Given the description of an element on the screen output the (x, y) to click on. 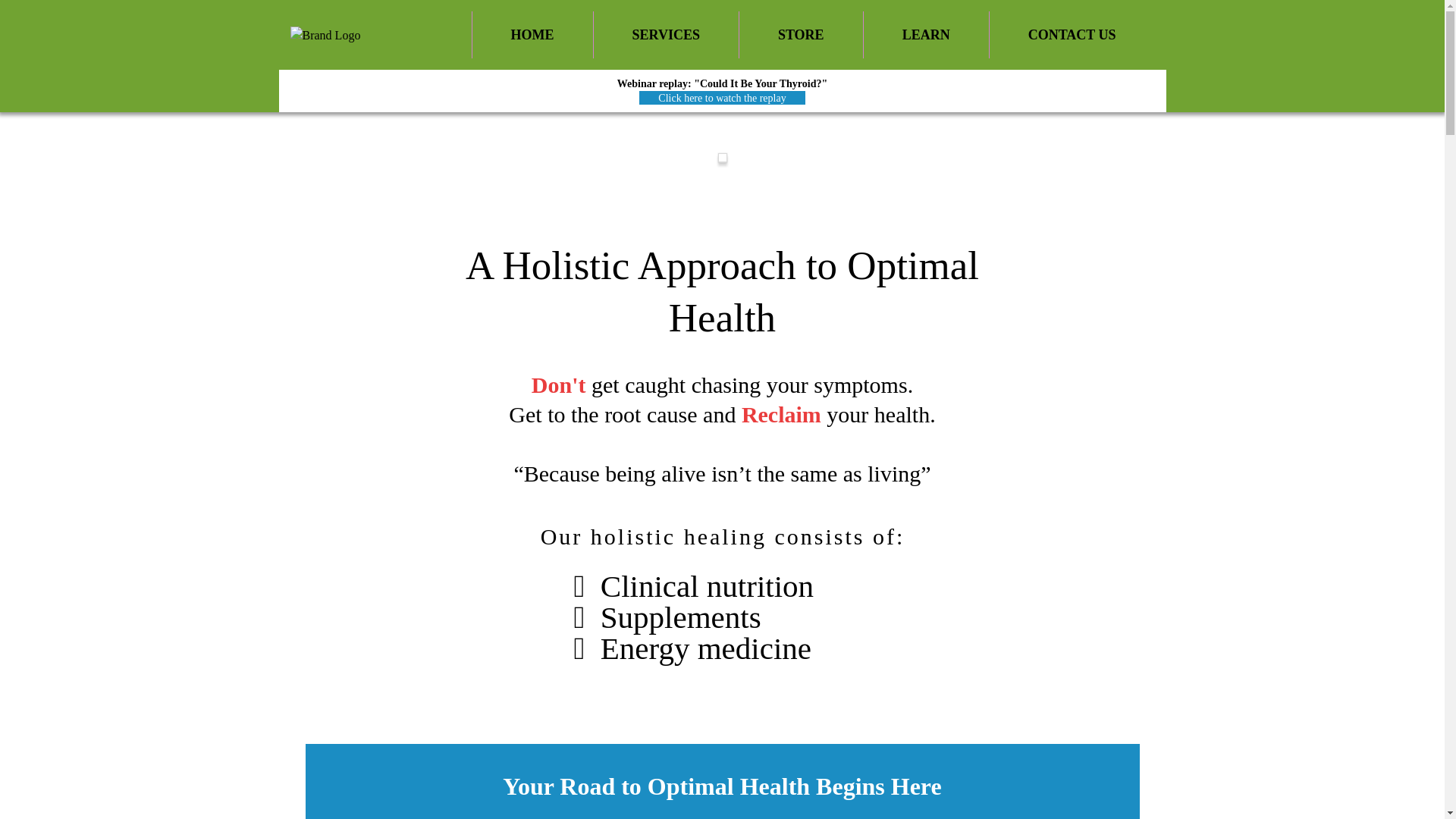
Click here to watch the replay (722, 97)
STORE (801, 34)
CONTACT US (1072, 34)
SERVICES (666, 34)
HOME (531, 34)
LEARN (925, 34)
